Given the description of an element on the screen output the (x, y) to click on. 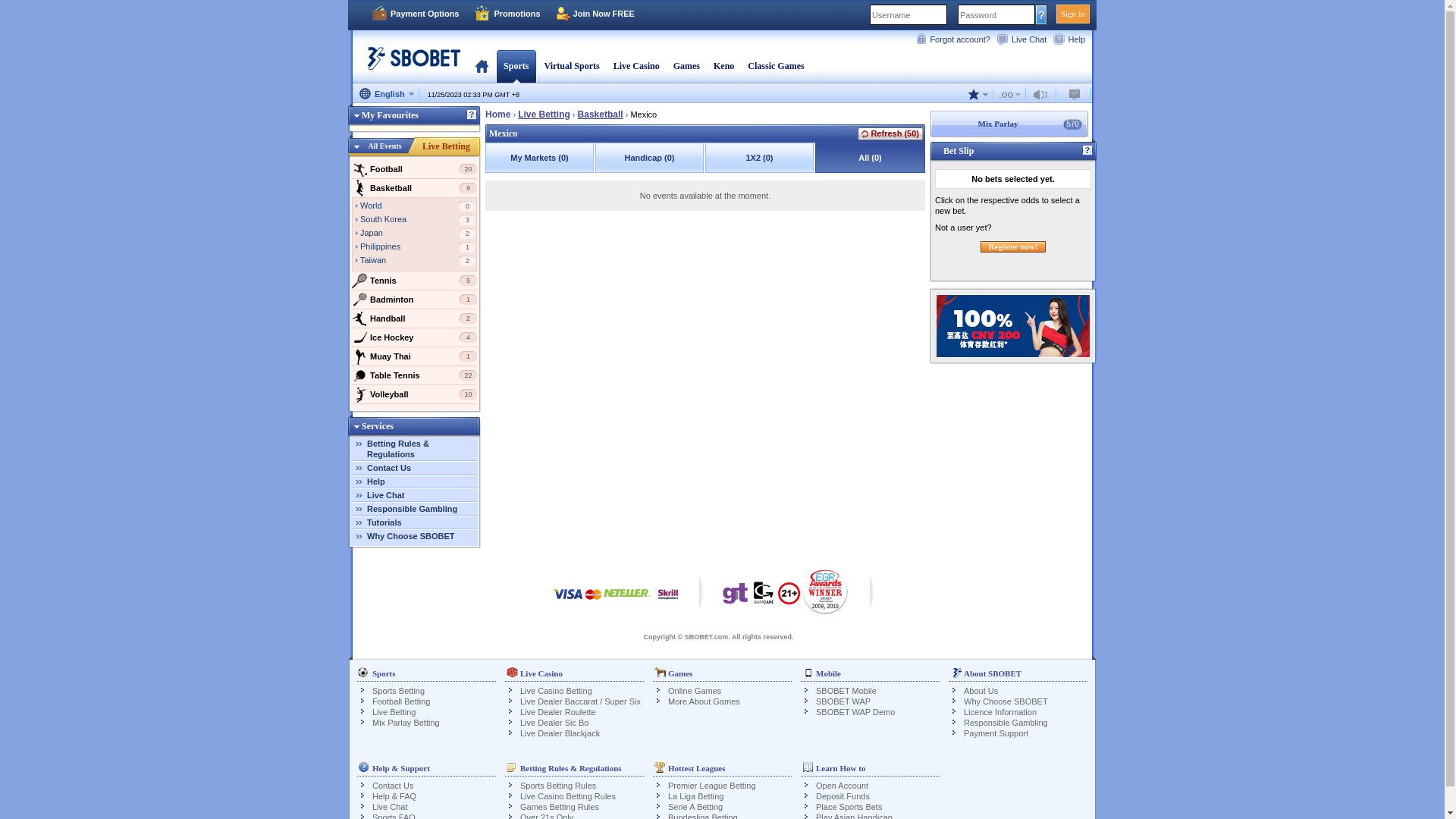
Football
20 Element type: text (413, 169)
Keno Element type: text (723, 65)
Why Choose SBOBET Element type: text (1005, 701)
Responsible Gambling - Visit Gambling Therapy Element type: hover (735, 596)
Volleyball
10 Element type: text (413, 394)
Place Sports Bets Element type: text (848, 806)
Ice Hockey
4 Element type: text (413, 337)
Contact Us Element type: text (389, 467)
Help Element type: hover (471, 114)
Premier League Betting Element type: text (712, 785)
Live Dealer Blackjack Element type: text (559, 732)
Live Chat Element type: text (1024, 39)
Sports Element type: text (515, 65)
Live Dealer Roulette Element type: text (558, 711)
Live Betting Element type: text (393, 711)
Basketball Element type: text (600, 114)
Help Element type: text (1071, 39)
Deposit Funds Element type: text (842, 795)
Online Games Element type: text (694, 690)
My Favourites Element type: text (414, 117)
Mix Parlay
570 Element type: text (1012, 123)
Tennis
5 Element type: text (413, 280)
Serie A Betting Element type: text (695, 806)
English Element type: text (386, 94)
Classic Games Element type: text (775, 65)
Live Chat Element type: text (389, 806)
Games Element type: text (686, 65)
Contact Us Element type: text (392, 785)
Muay Thai
1 Element type: text (413, 356)
Licence Information Element type: text (999, 711)
Join Now FREE Element type: text (594, 13)
Payment Options Element type: text (414, 13)
About Us Element type: text (980, 690)
Live Dealer Baccarat / Super Six Element type: text (580, 701)
Help & FAQ Element type: text (394, 795)
Live Betting Element type: text (543, 114)
Games Betting Rules Element type: text (559, 806)
Payment by MasterCard Element type: hover (593, 601)
Live Casino Element type: text (636, 65)
Mix Parlay
570 Element type: text (1008, 123)
Payment by Visa Element type: hover (567, 601)
SBOBET Mobile Element type: text (845, 690)
Live Dealer Sic Bo Element type: text (554, 722)
Forgot your password? Element type: hover (1041, 14)
Sports Betting Element type: text (398, 690)
SBOBET WAP Demo Element type: text (854, 711)
Services Element type: text (370, 425)
Sports Betting Rules Element type: text (558, 785)
Unavailable option Element type: hover (1075, 94)
Betting Rules & Regulations Element type: text (398, 448)
Payment Support Element type: text (1025, 733)
Handicap (0) Element type: text (649, 157)
Live Casino Betting Rules Element type: text (567, 795)
Payment by NETELLER Element type: hover (626, 601)
Badminton
1 Element type: text (413, 299)
Sign In Element type: text (1072, 13)
Responsible Gambling - Over 21s only Element type: hover (789, 598)
Help Element type: hover (1087, 150)
Live Casino Element type: text (636, 65)
Live Betting Element type: text (445, 146)
EGR Awards - SBOBET Asian Operator of the Year Element type: hover (825, 591)
Payment Powered by Skrill (Moneybookers) - Click to View All Element type: hover (667, 601)
Live Casino Betting Element type: text (556, 690)
Help Element type: text (376, 481)
+ Element type: text (513, 94)
World
0 Element type: text (418, 206)
My Markets (0) Element type: text (539, 157)
Responsible Gambling - Visit GamCare Element type: hover (763, 596)
Taiwan
2 Element type: text (418, 261)
Why Choose SBOBET Element type: text (411, 535)
Mix Parlay Betting Element type: text (405, 722)
Sign In
Payment Options
Promotions
Join Now FREE Element type: text (722, 15)
Table Tennis
22 Element type: text (413, 375)
South Korea
3 Element type: text (418, 220)
Home Element type: text (481, 65)
Japan
2 Element type: text (418, 234)
Responsible Gambling Element type: text (412, 508)
Virtual Sports Element type: text (571, 65)
Responsible Gambling Element type: text (1005, 722)
My Favourites Element type: text (383, 114)
Unavailable option Element type: hover (1010, 94)
Handball
2 Element type: text (413, 318)
Philippines
1 Element type: text (418, 247)
Live Chat Element type: text (385, 494)
1X2 (0) Element type: text (759, 157)
All Events Element type: text (384, 146)
Football Betting Element type: text (400, 701)
SBOBET WAP Element type: text (842, 701)
Basketball
9 Element type: text (413, 187)
Home Element type: text (497, 113)
Tutorials Element type: text (384, 522)
Register now! Element type: text (1013, 246)
La Liga Betting Element type: text (695, 795)
SBOBET Sports | Online Sports Live Betting - Join Now! Element type: hover (409, 63)
Unavailable option Element type: hover (1042, 94)
Open Account Element type: text (841, 785)
All (0) Element type: text (870, 157)
Promotions Element type: text (506, 13)
More About Games Element type: text (704, 701)
